Given the description of an element on the screen output the (x, y) to click on. 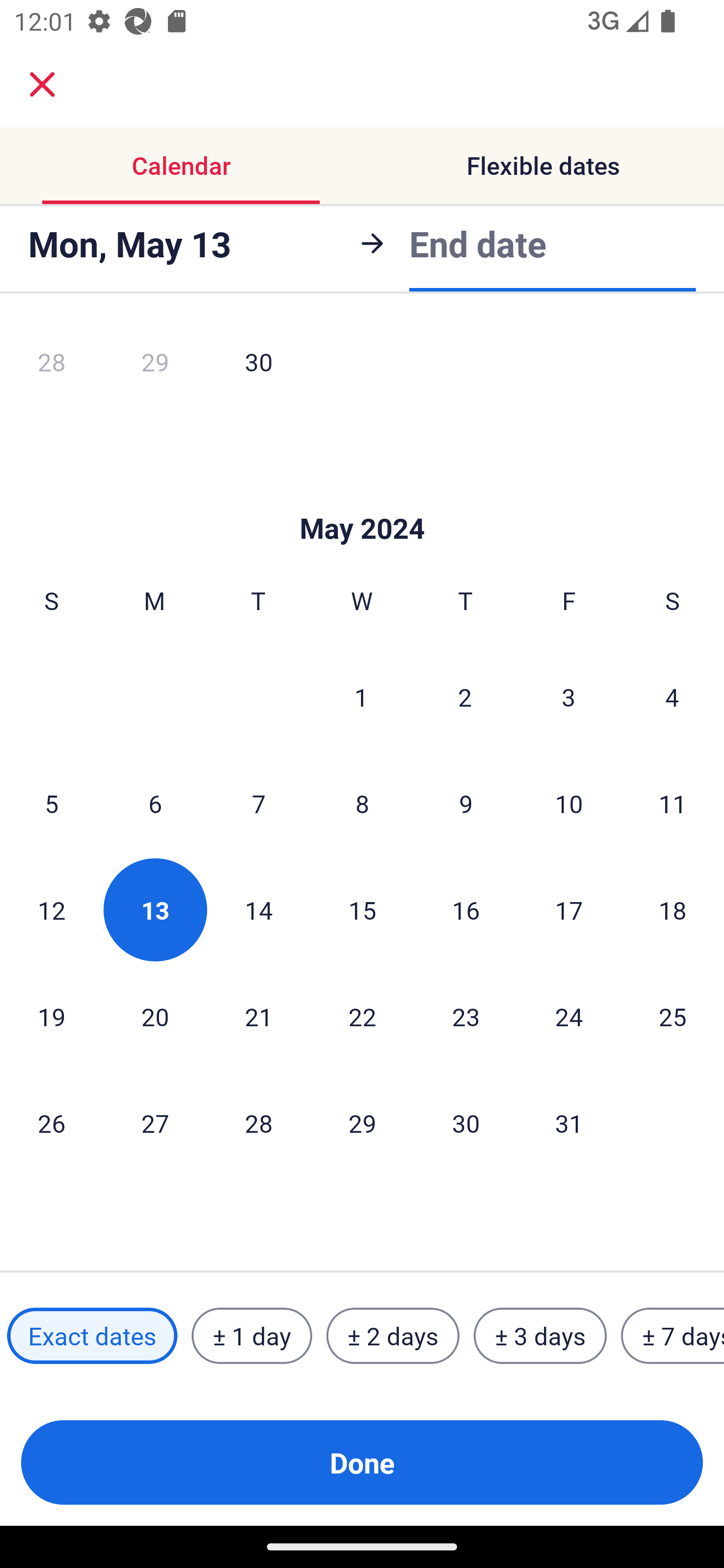
close. (42, 84)
Flexible dates (542, 164)
End date (477, 243)
28 Sunday, April 28, 2024 (51, 366)
29 Monday, April 29, 2024 (155, 366)
30 Tuesday, April 30, 2024 (258, 366)
Skip to Done (362, 498)
1 Wednesday, May 1, 2024 (361, 696)
2 Thursday, May 2, 2024 (464, 696)
3 Friday, May 3, 2024 (568, 696)
4 Saturday, May 4, 2024 (672, 696)
5 Sunday, May 5, 2024 (51, 802)
6 Monday, May 6, 2024 (155, 802)
7 Tuesday, May 7, 2024 (258, 802)
8 Wednesday, May 8, 2024 (362, 802)
9 Thursday, May 9, 2024 (465, 802)
10 Friday, May 10, 2024 (569, 802)
11 Saturday, May 11, 2024 (672, 802)
12 Sunday, May 12, 2024 (51, 909)
14 Tuesday, May 14, 2024 (258, 909)
15 Wednesday, May 15, 2024 (362, 909)
16 Thursday, May 16, 2024 (465, 909)
17 Friday, May 17, 2024 (569, 909)
18 Saturday, May 18, 2024 (672, 909)
19 Sunday, May 19, 2024 (51, 1015)
20 Monday, May 20, 2024 (155, 1015)
21 Tuesday, May 21, 2024 (258, 1015)
22 Wednesday, May 22, 2024 (362, 1015)
23 Thursday, May 23, 2024 (465, 1015)
24 Friday, May 24, 2024 (569, 1015)
25 Saturday, May 25, 2024 (672, 1015)
26 Sunday, May 26, 2024 (51, 1122)
27 Monday, May 27, 2024 (155, 1122)
28 Tuesday, May 28, 2024 (258, 1122)
29 Wednesday, May 29, 2024 (362, 1122)
30 Thursday, May 30, 2024 (465, 1122)
31 Friday, May 31, 2024 (569, 1122)
Exact dates (92, 1335)
± 1 day (251, 1335)
± 2 days (392, 1335)
± 3 days (539, 1335)
± 7 days (672, 1335)
Done (361, 1462)
